Given the description of an element on the screen output the (x, y) to click on. 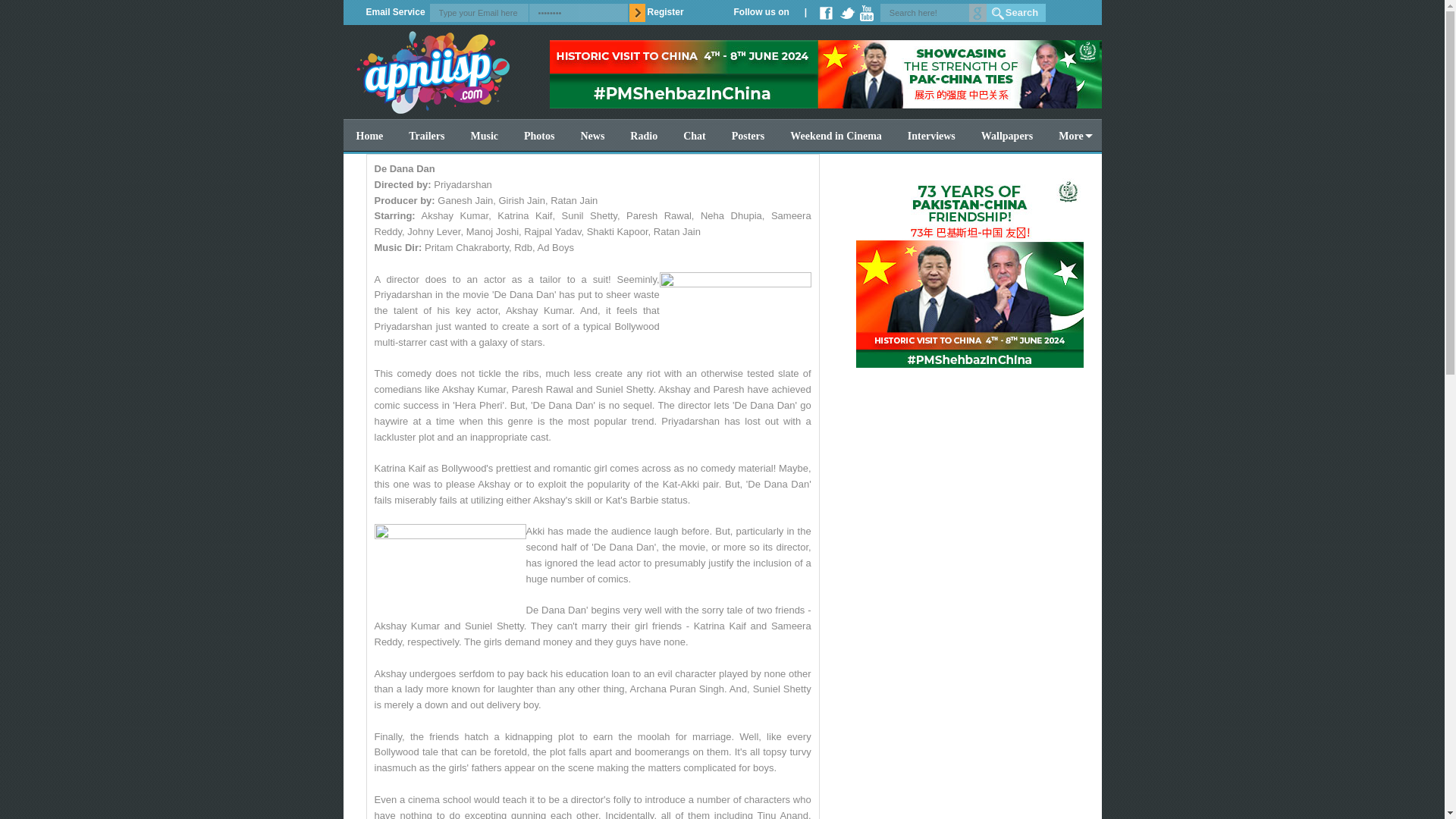
Weekend in Cinema (836, 135)
Search here! (933, 13)
Music (484, 135)
Chat (694, 135)
Home (369, 135)
News (592, 135)
Trailers (426, 135)
password (578, 13)
Search (1016, 13)
Radio (643, 135)
Photos (539, 135)
Posters (748, 135)
Wallpapers (1006, 135)
Search (1016, 13)
Register (665, 12)
